Given the description of an element on the screen output the (x, y) to click on. 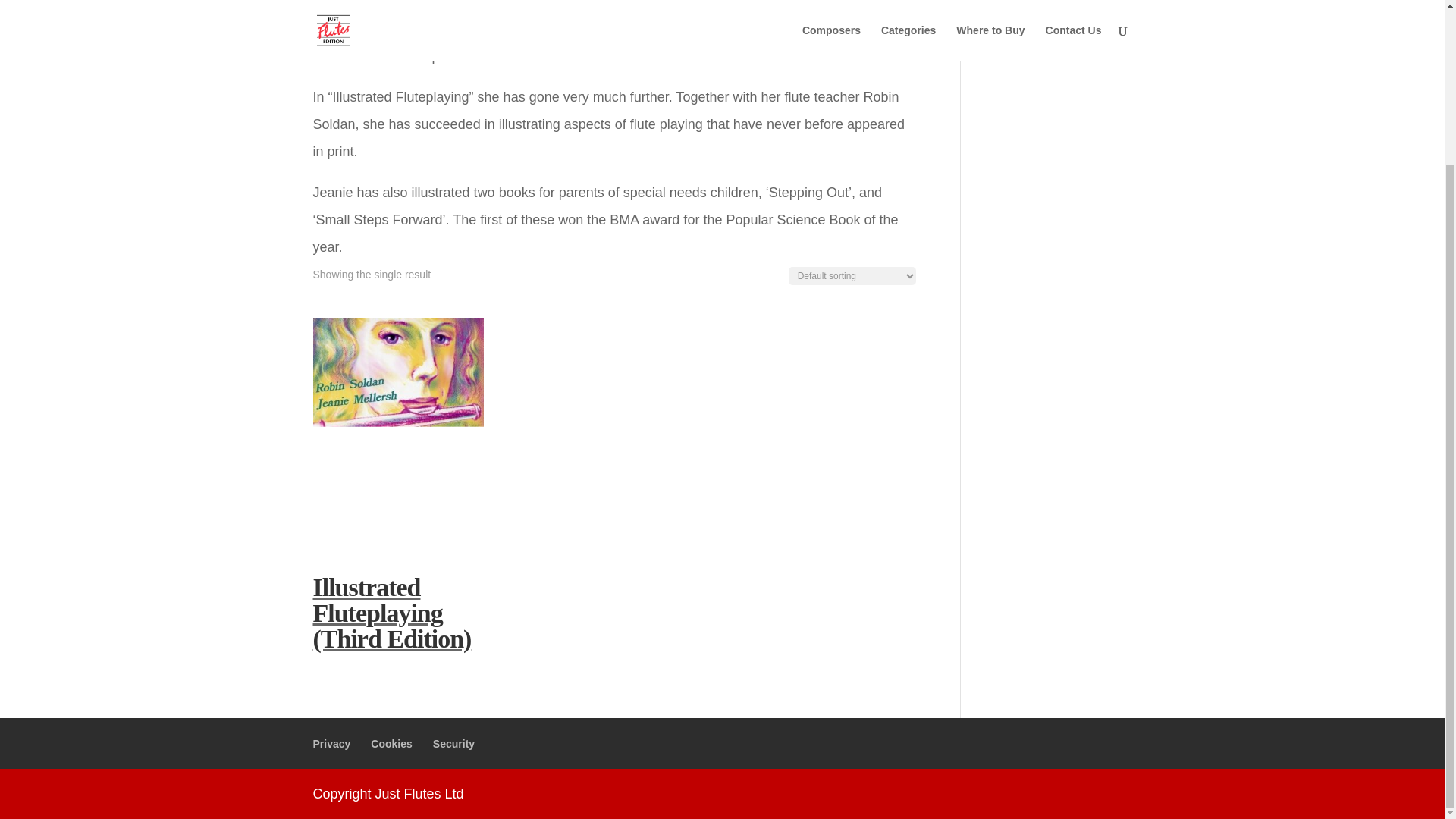
Privacy (331, 743)
Cookies (391, 743)
Security (453, 743)
